Given the description of an element on the screen output the (x, y) to click on. 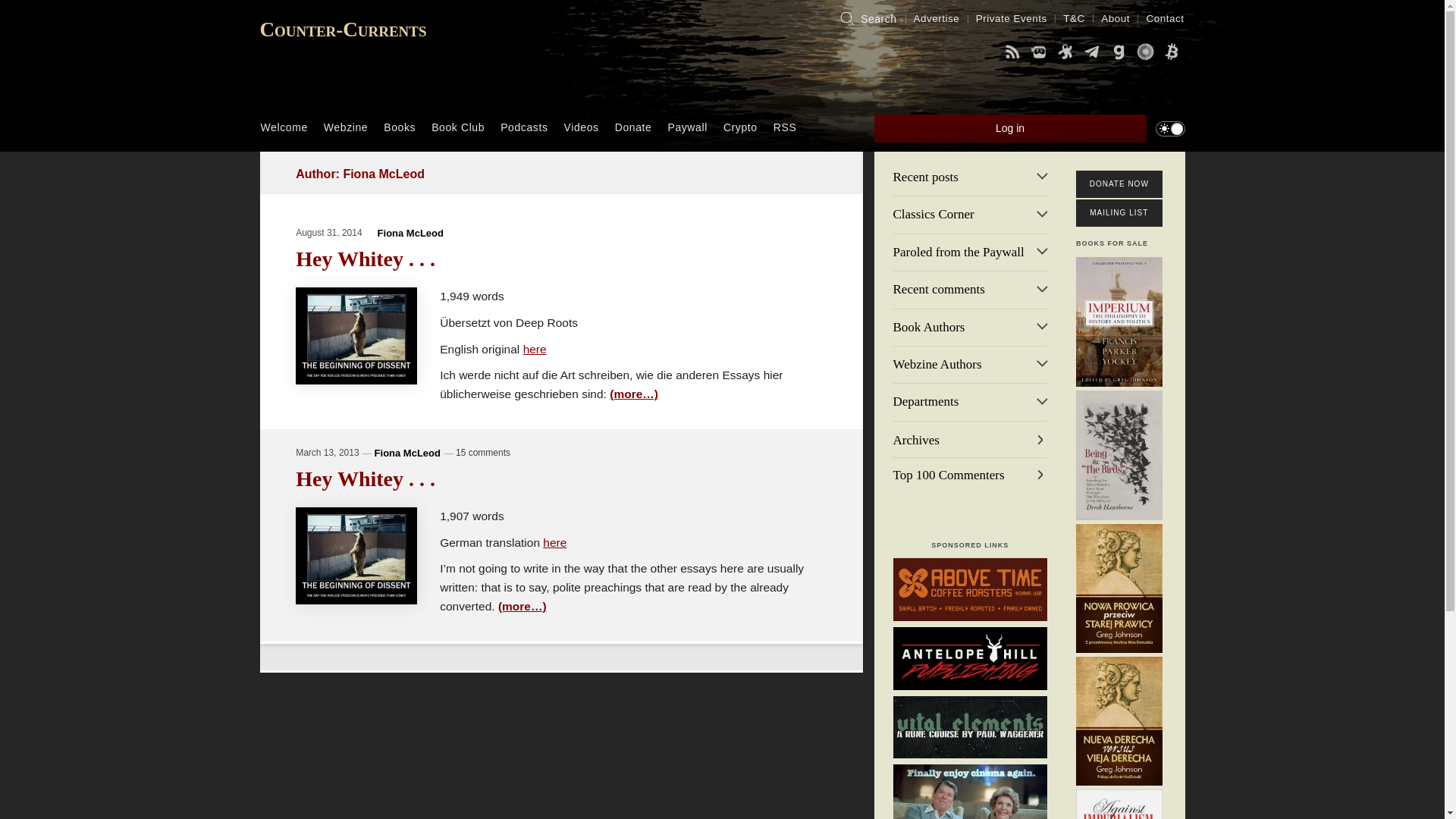
Contact (1164, 18)
Books (399, 126)
Private Events (1011, 18)
Videos (581, 126)
Podcasts (523, 126)
Book Club (458, 126)
Crypto (740, 126)
Paywall (687, 126)
Search (866, 18)
Welcome (283, 126)
Donate (633, 126)
Search (866, 18)
Log in (1010, 128)
Counter-Currents (342, 29)
Webzine (345, 126)
